Given the description of an element on the screen output the (x, y) to click on. 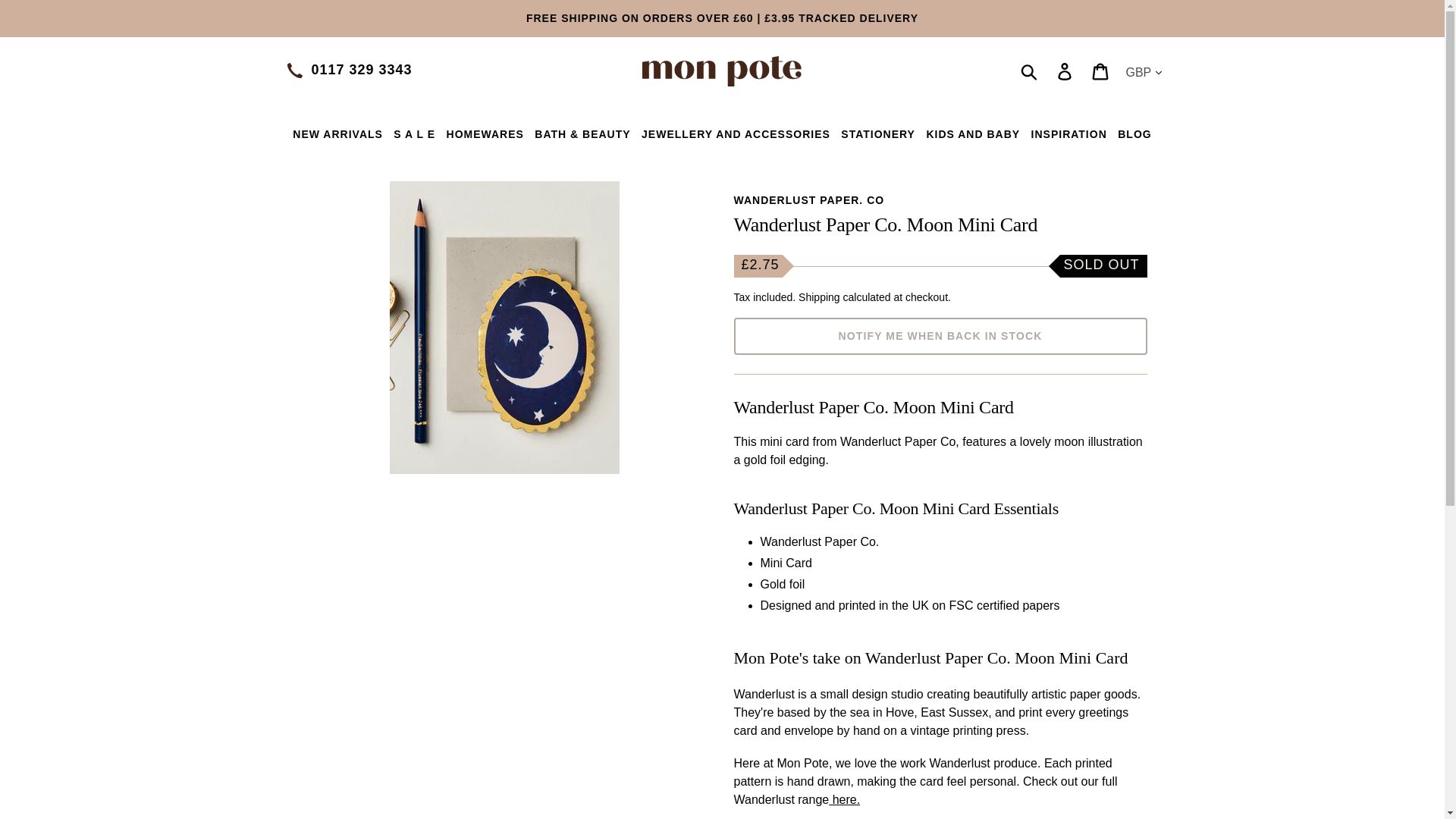
0117 329 3343 (361, 69)
